Given the description of an element on the screen output the (x, y) to click on. 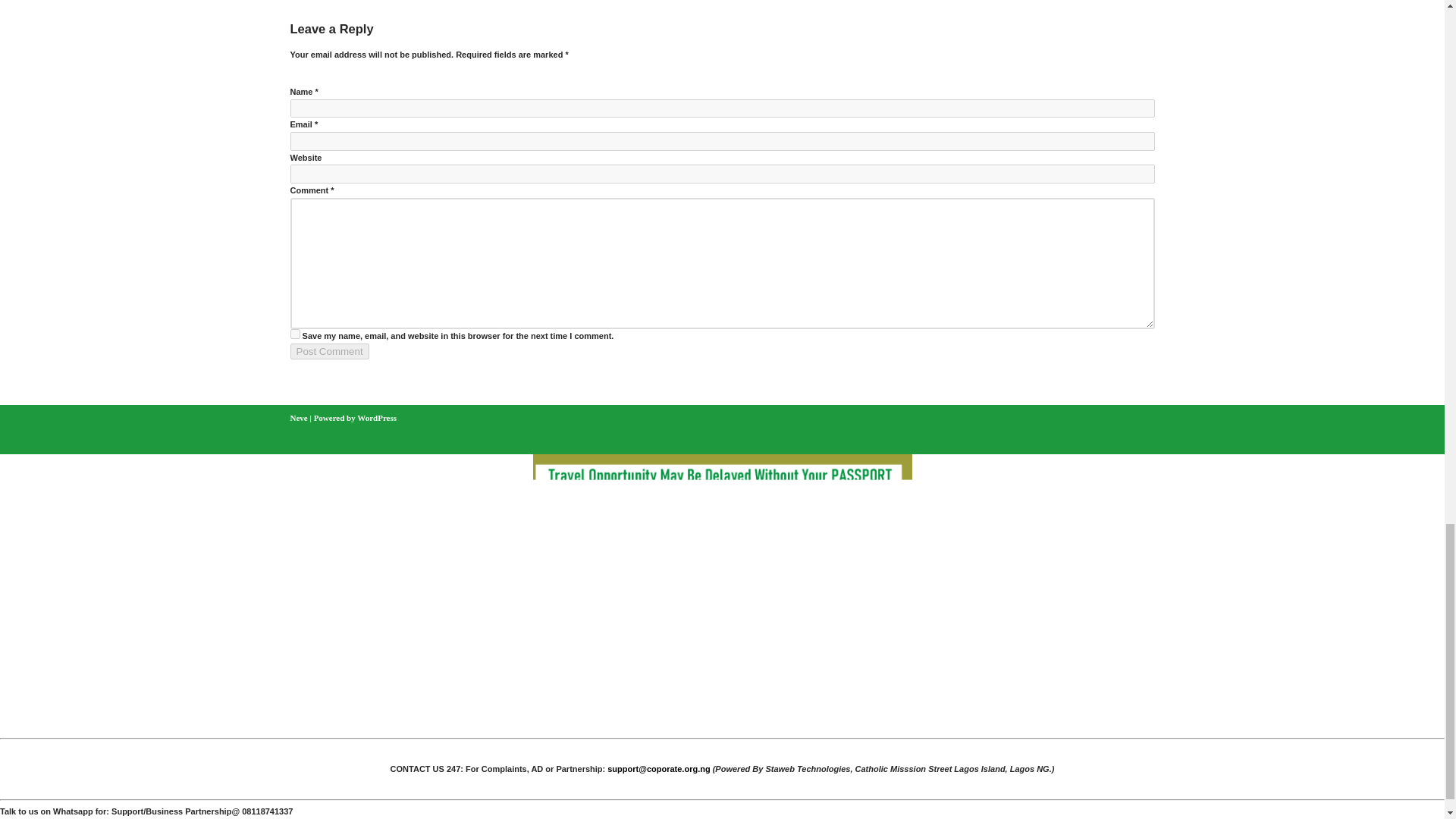
Post Comment (328, 351)
Post Comment (328, 351)
yes (294, 334)
Neve (298, 417)
WordPress (376, 417)
